Given the description of an element on the screen output the (x, y) to click on. 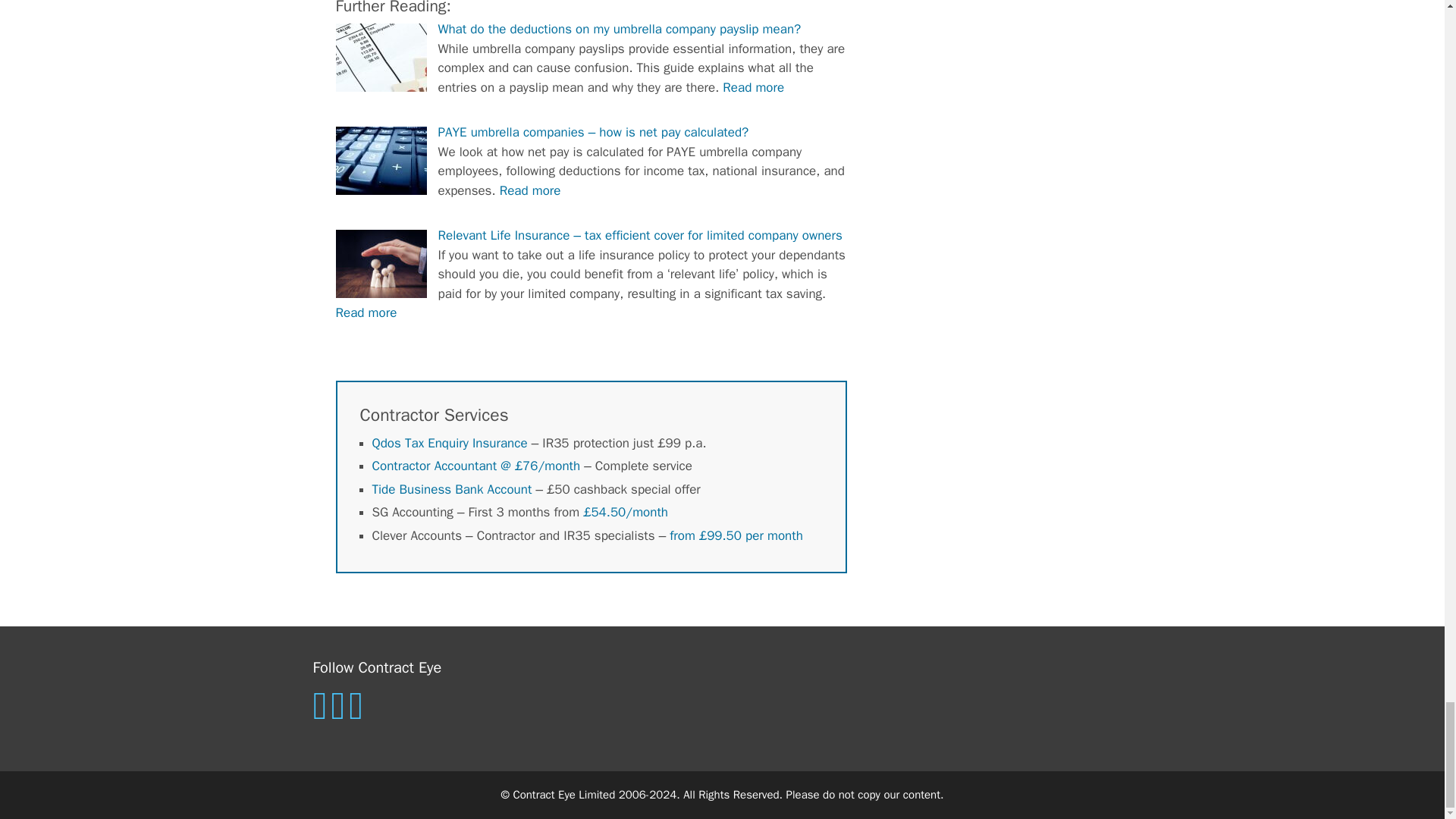
What do the deductions on my umbrella company payslip mean? (620, 28)
Follow Us on LinkedIn (321, 714)
